Given the description of an element on the screen output the (x, y) to click on. 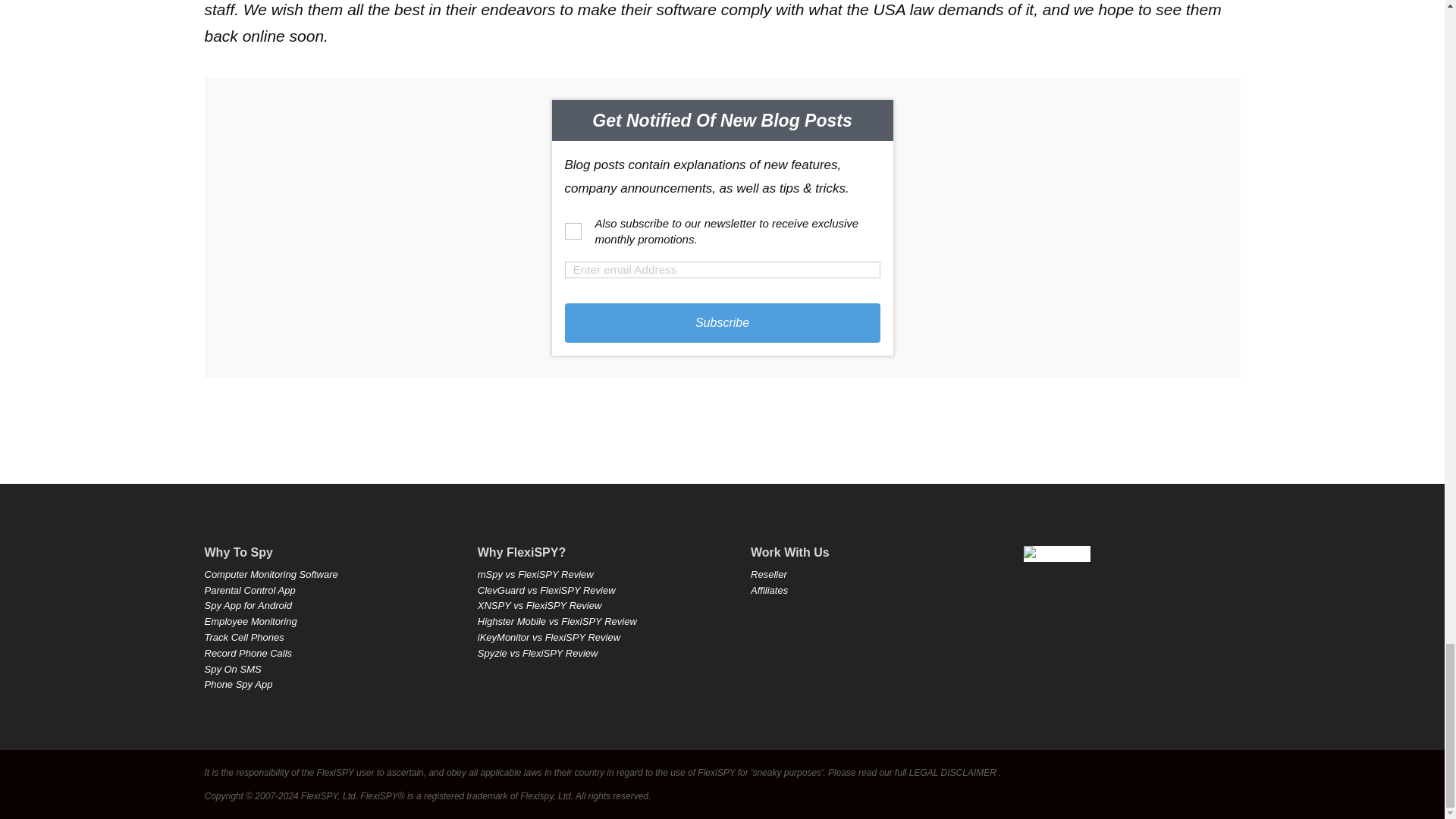
Affiliates (769, 590)
Spyzie vs FlexiSPY Review (537, 653)
ClevGuard vs FlexiSPY Review (546, 590)
XNSPY vs FlexiSPY Review (539, 604)
mSpy vs FlexiSPY Review (535, 573)
Phone Spy App (239, 684)
Computer Monitoring Software (271, 573)
Highster Mobile vs FlexiSPY Review (557, 621)
Track Cell Phones (244, 636)
Spy On SMS (233, 668)
Parental Control App (250, 590)
Spy App for Android (248, 604)
Reseller (769, 573)
Employee Monitoring (251, 621)
iKeyMonitor vs FlexiSPY Review (548, 636)
